Given the description of an element on the screen output the (x, y) to click on. 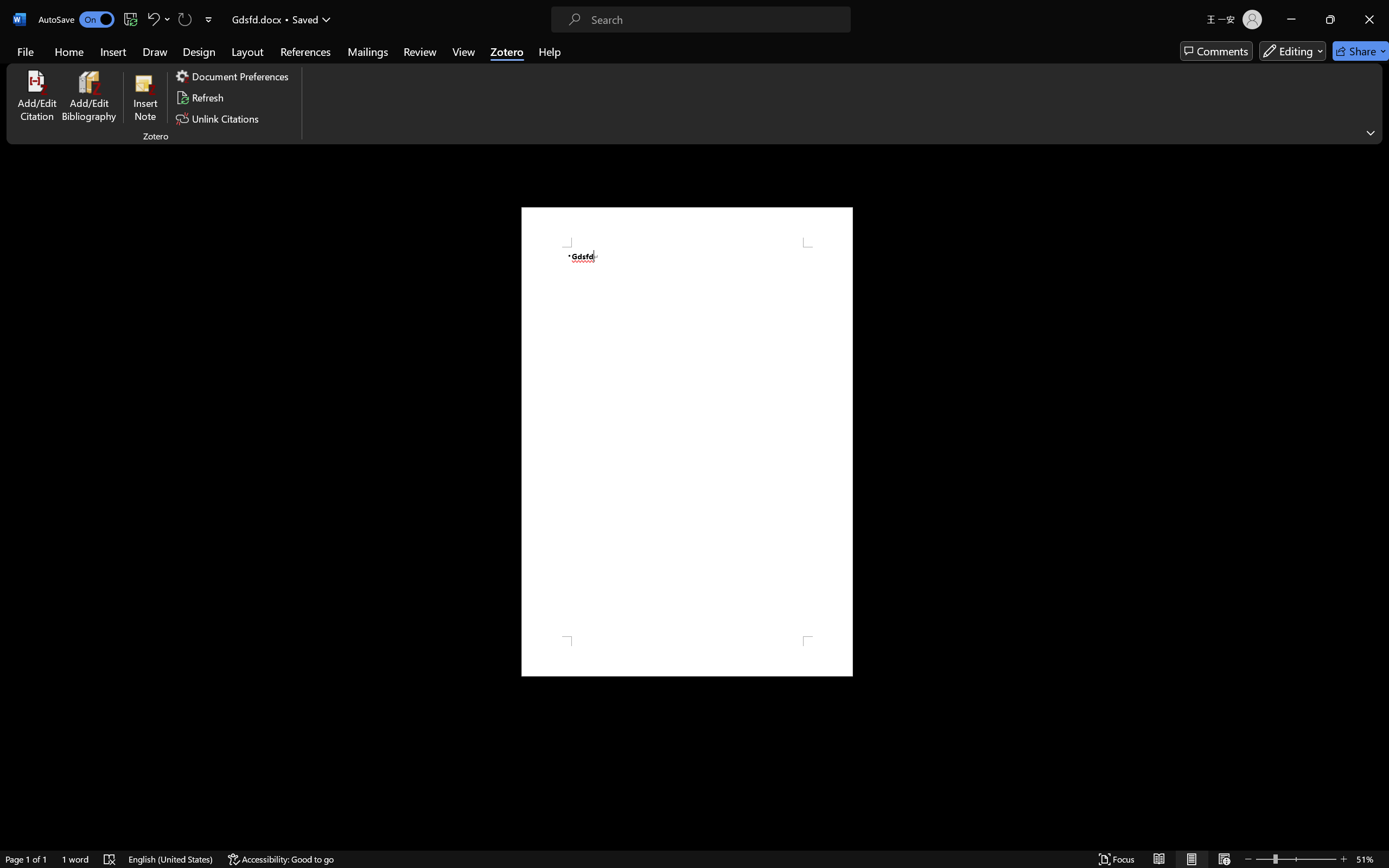
Page 1 content (686, 441)
